Given the description of an element on the screen output the (x, y) to click on. 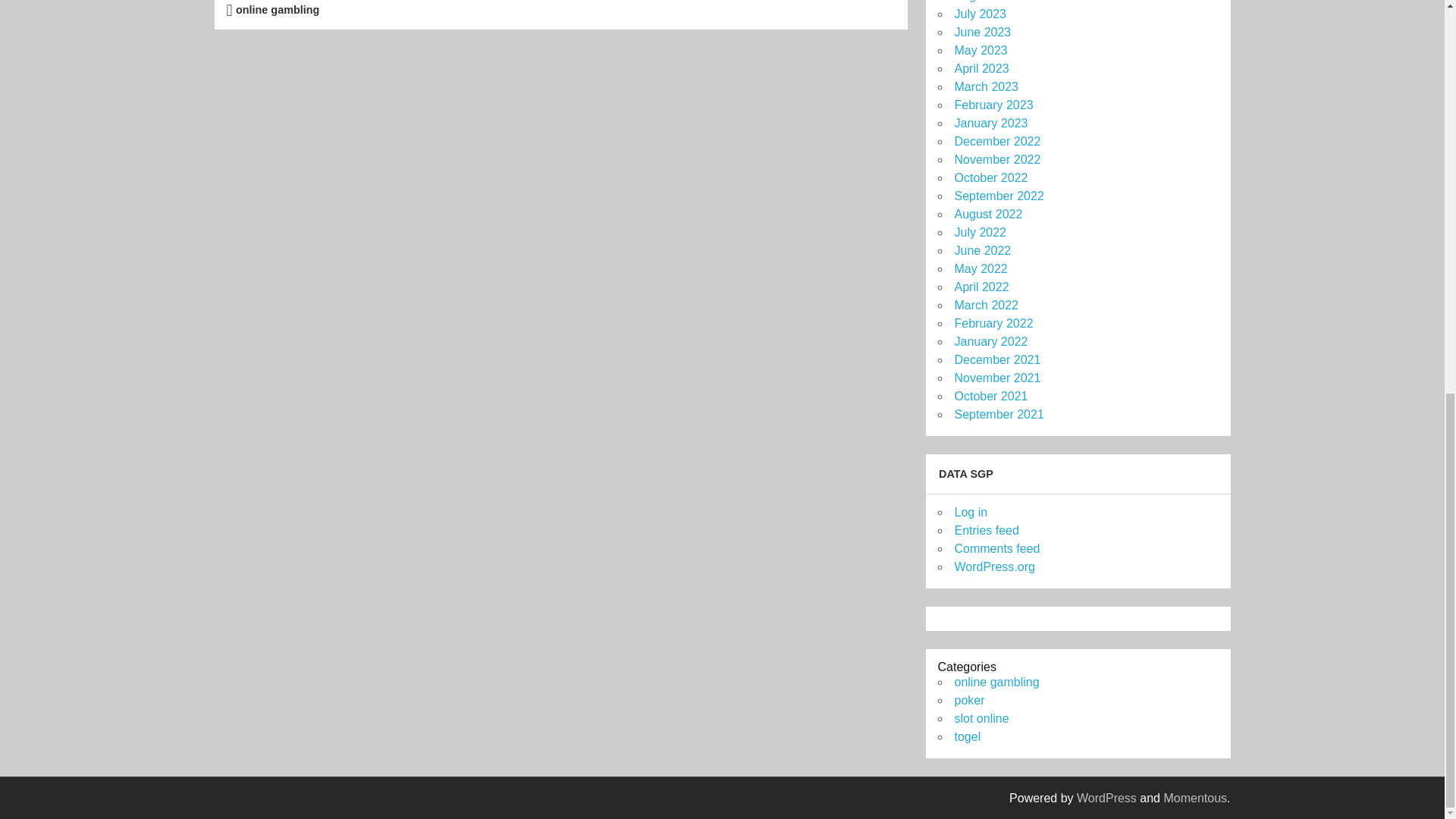
January 2023 (990, 123)
August 2023 (987, 1)
August 2022 (987, 214)
June 2023 (981, 31)
Momentous WordPress Theme (1195, 797)
November 2022 (997, 159)
May 2023 (980, 50)
February 2023 (992, 104)
July 2023 (979, 13)
September 2022 (998, 195)
